Given the description of an element on the screen output the (x, y) to click on. 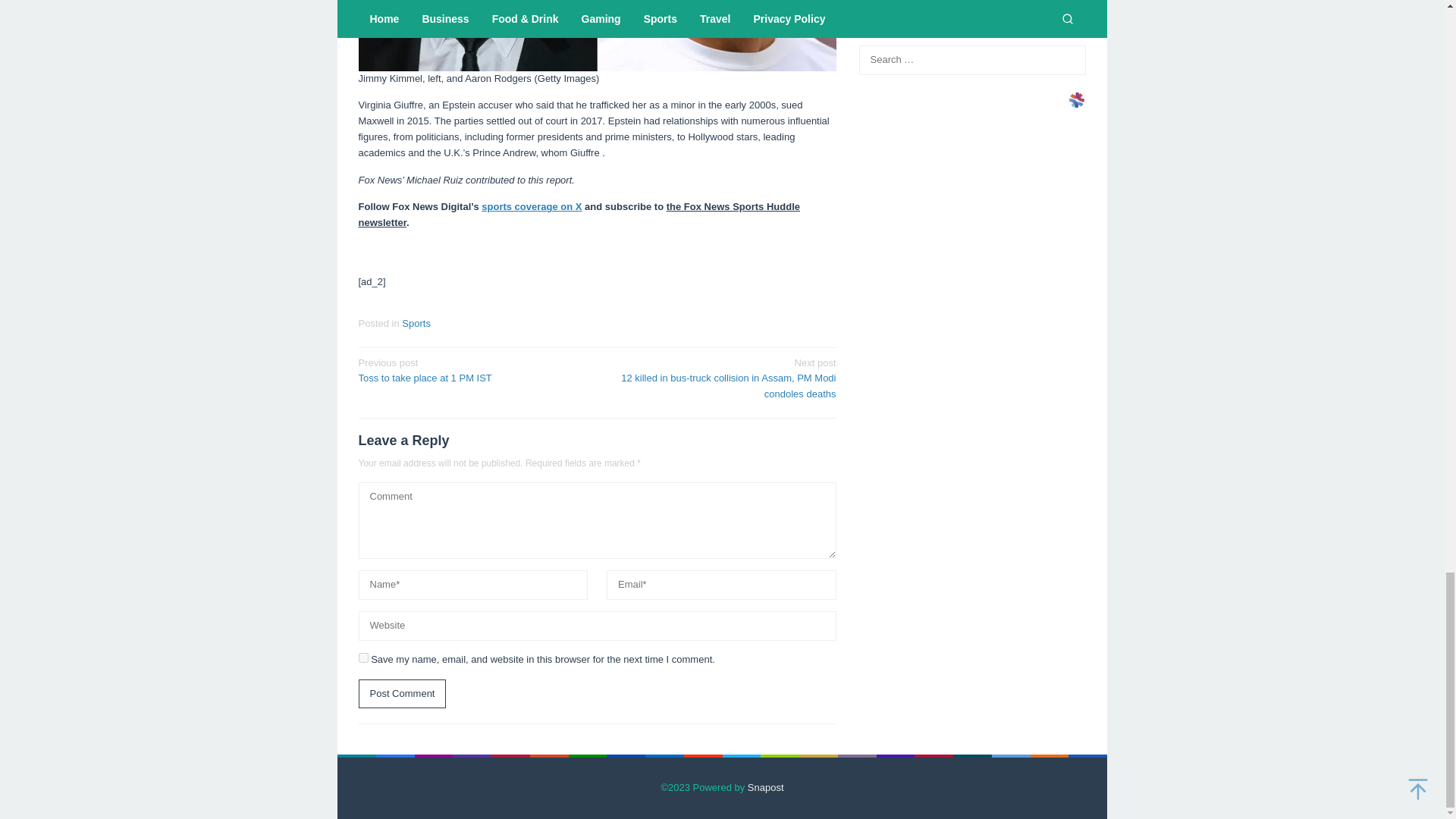
Post Comment (401, 694)
Sports (415, 323)
Snapost (766, 787)
sports coverage on X (530, 206)
yes (363, 657)
Post Comment (401, 694)
